Given the description of an element on the screen output the (x, y) to click on. 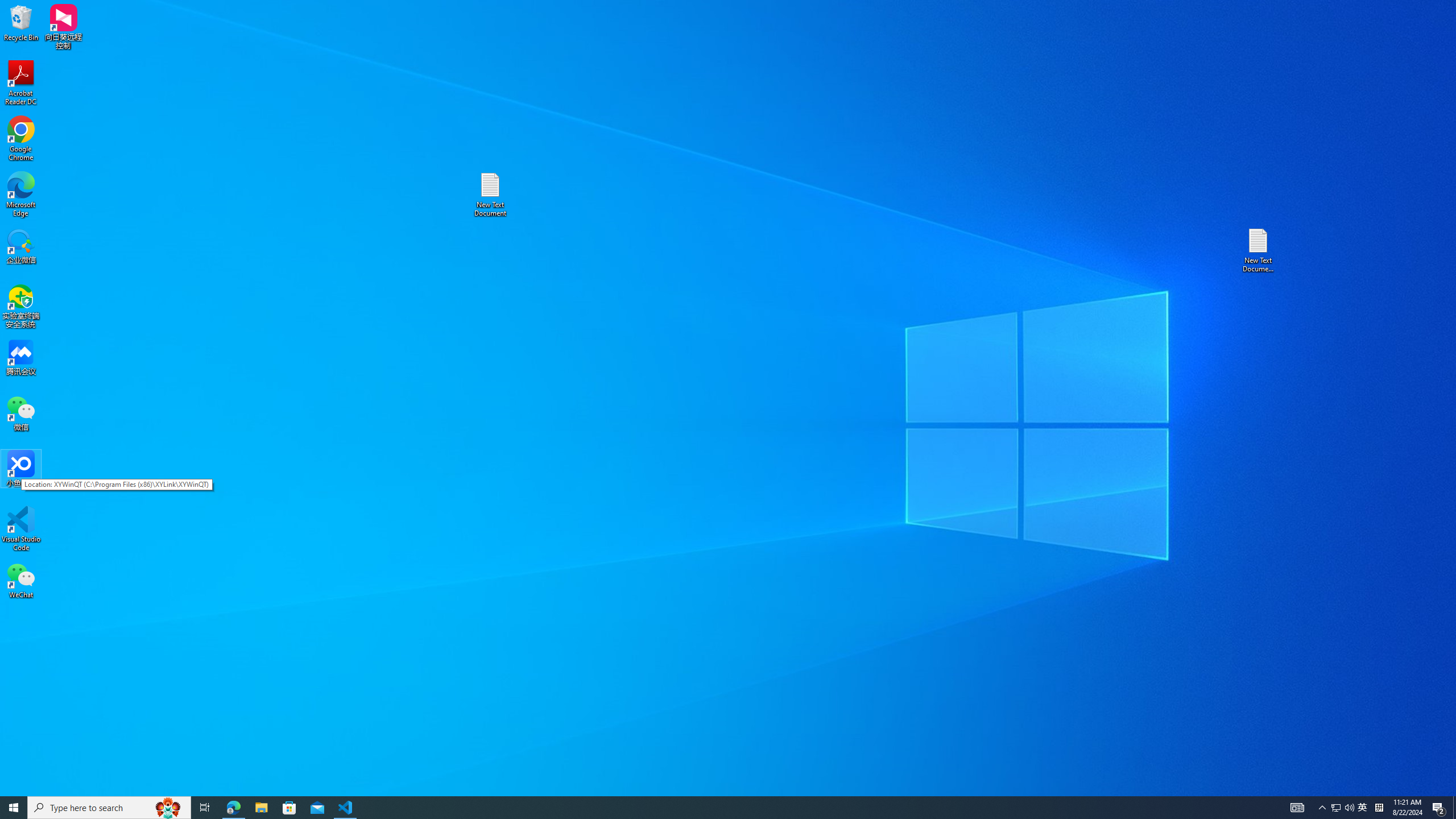
Task View (1335, 807)
Q2790: 100% (1362, 807)
